Given the description of an element on the screen output the (x, y) to click on. 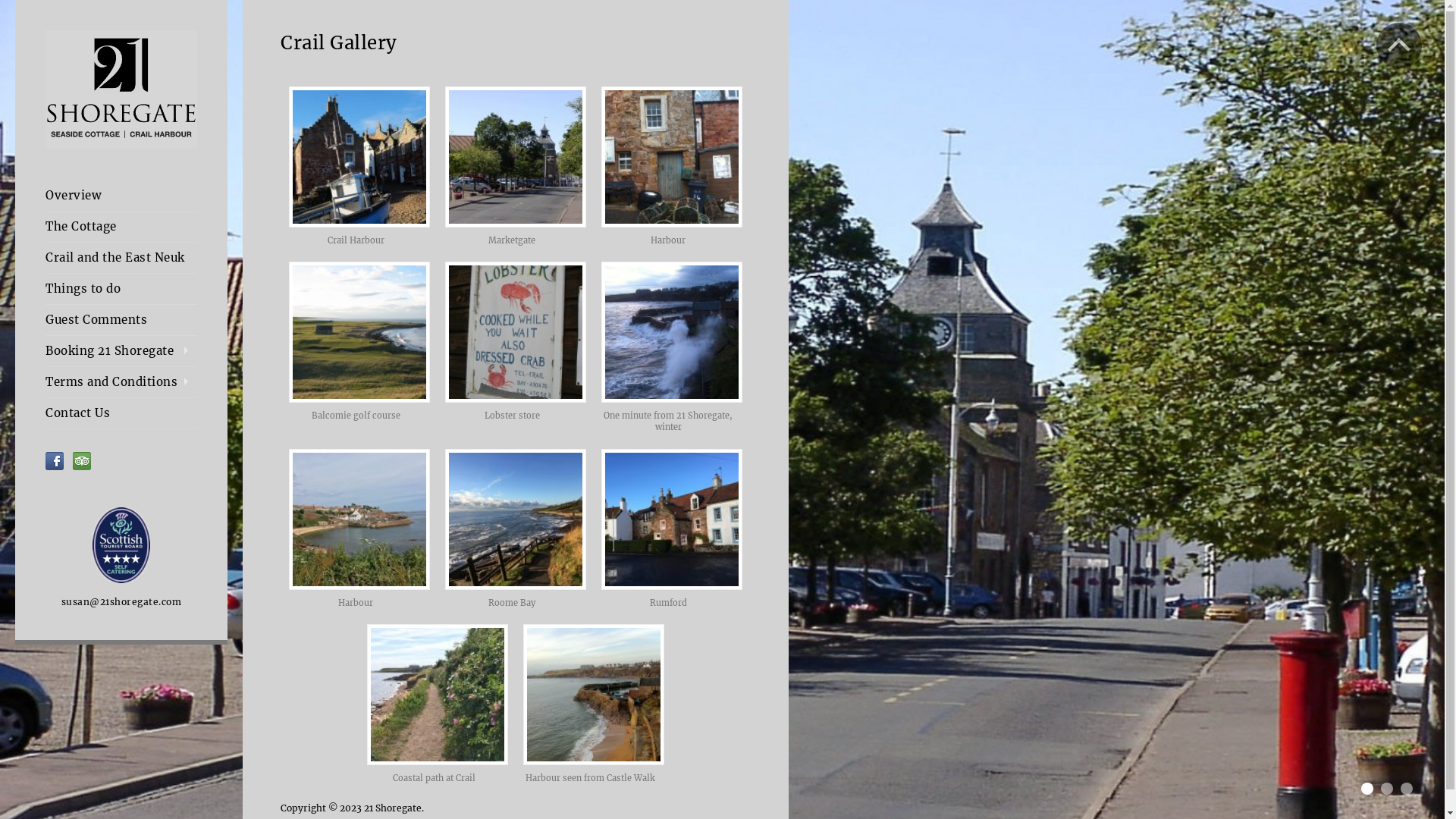
Guest Comments Element type: text (121, 319)
susan@21shoregate.com Element type: text (121, 601)
Overview Element type: text (121, 195)
Terms and Conditions Element type: text (121, 382)
The Cottage Element type: text (121, 226)
Hide Element type: text (1398, 45)
Booking 21 Shoregate Element type: text (121, 351)
Contact Us Element type: text (121, 413)
Things to do Element type: text (121, 288)
Crail and the East Neuk Element type: text (121, 257)
